Given the description of an element on the screen output the (x, y) to click on. 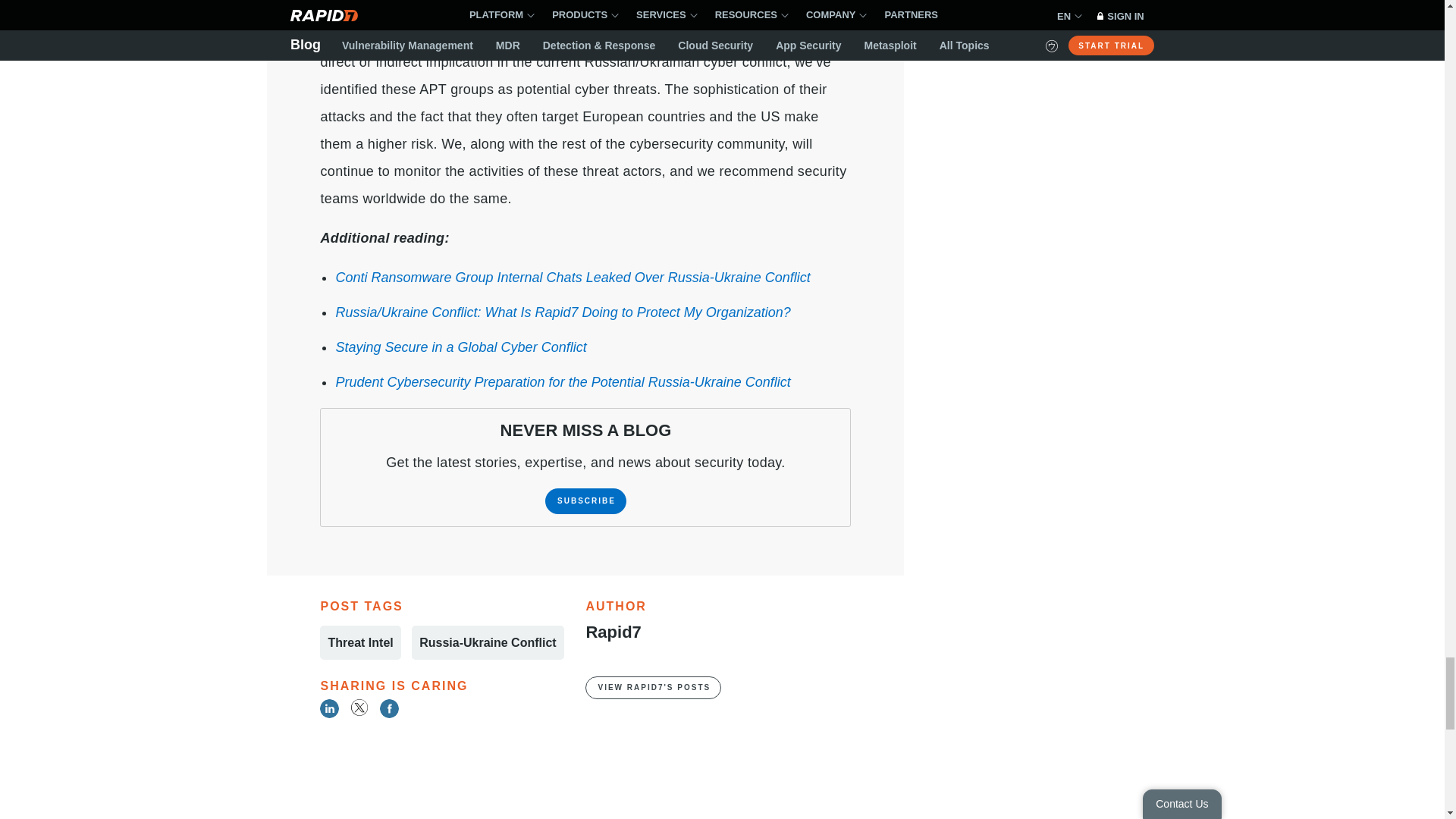
Threat Intel (360, 642)
Rapid7 (612, 631)
Russia-Ukraine Conflict (487, 642)
